Given the description of an element on the screen output the (x, y) to click on. 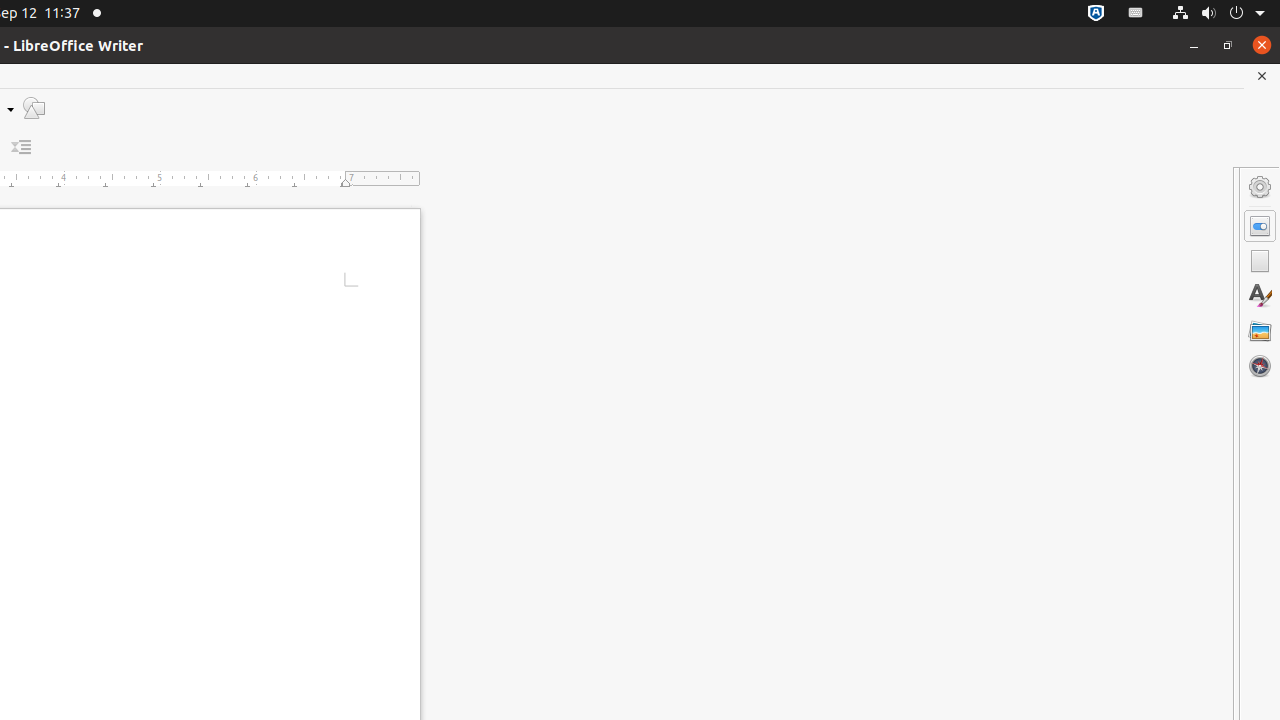
System Element type: menu (1218, 13)
org.kde.StatusNotifierItem-14077-1 Element type: menu (1136, 13)
:1.72/StatusNotifierItem Element type: menu (1096, 13)
Gallery Element type: radio-button (1260, 331)
Draw Functions Element type: push-button (33, 108)
